Given the description of an element on the screen output the (x, y) to click on. 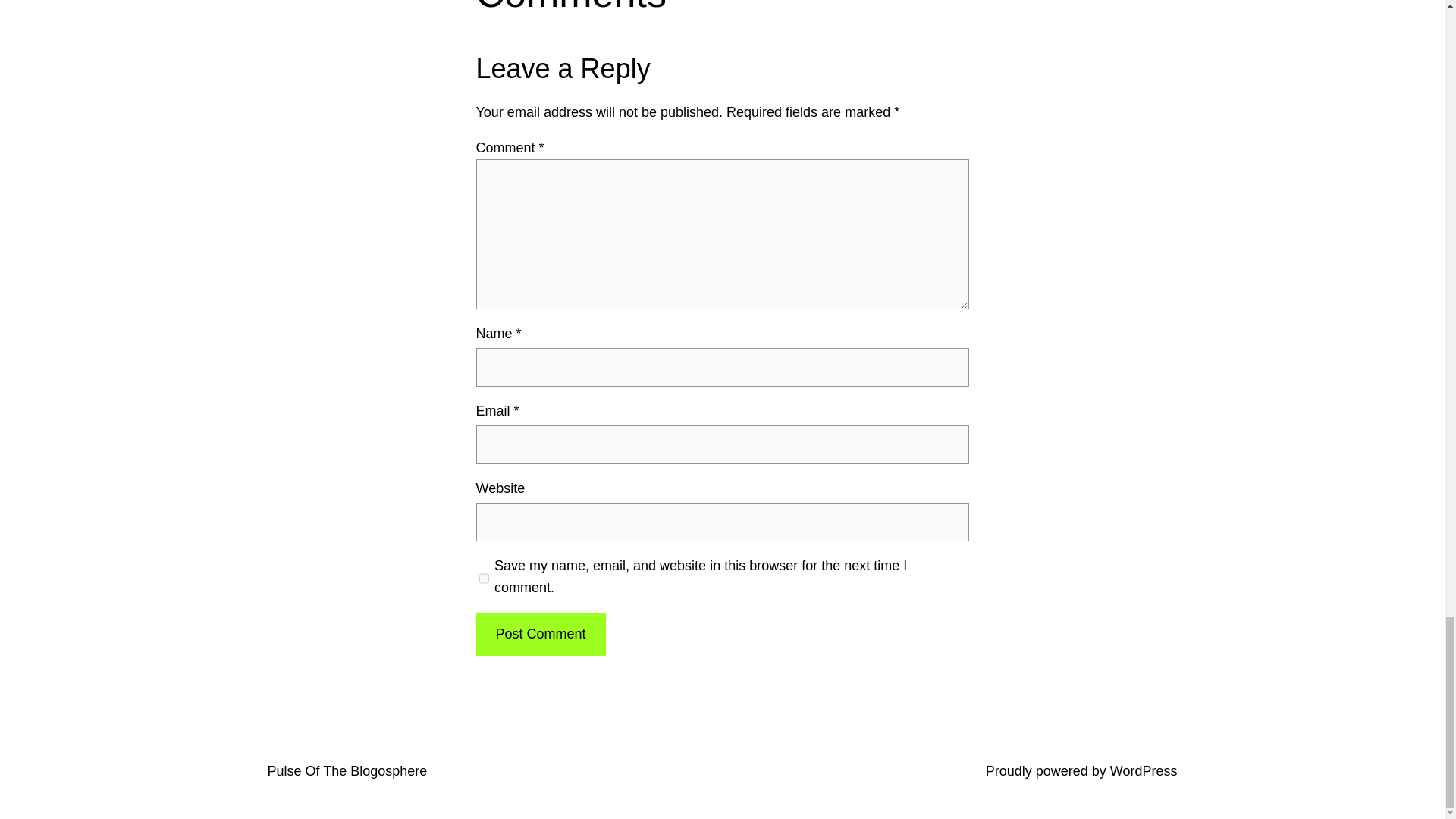
Pulse Of The Blogosphere (346, 770)
WordPress (1143, 770)
Post Comment (540, 634)
Post Comment (540, 634)
